Given the description of an element on the screen output the (x, y) to click on. 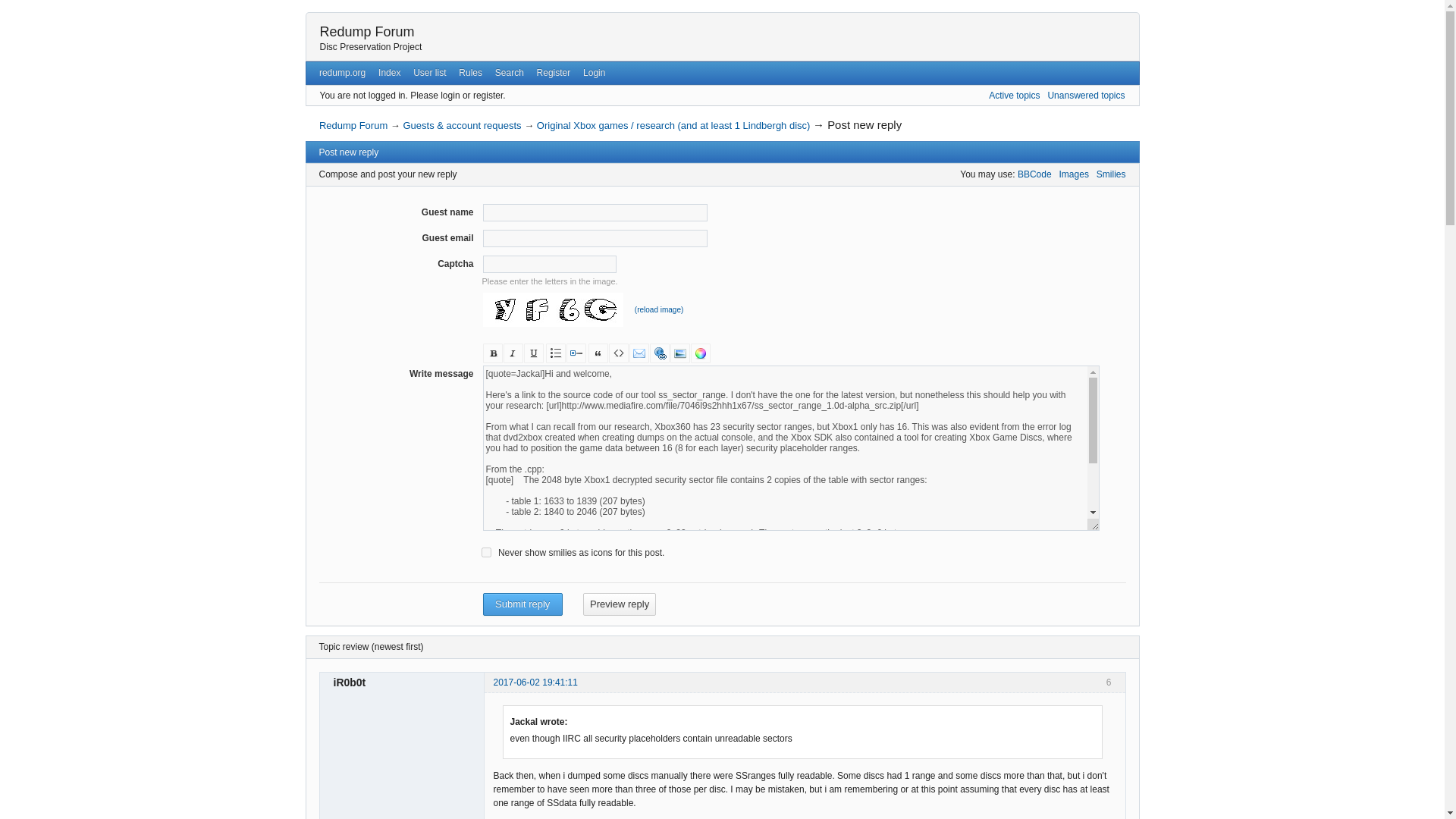
Redump Forum (352, 125)
Preview reply (619, 603)
Help with: Images (1074, 173)
code (617, 353)
Submit reply (521, 603)
1 (486, 552)
Unanswered topics (1085, 95)
redump.org (342, 72)
Rules (469, 72)
Find topics which contain recent posts. (1013, 95)
Search (508, 72)
email (638, 353)
Submit reply (521, 603)
Login (593, 72)
Index (389, 72)
